Given the description of an element on the screen output the (x, y) to click on. 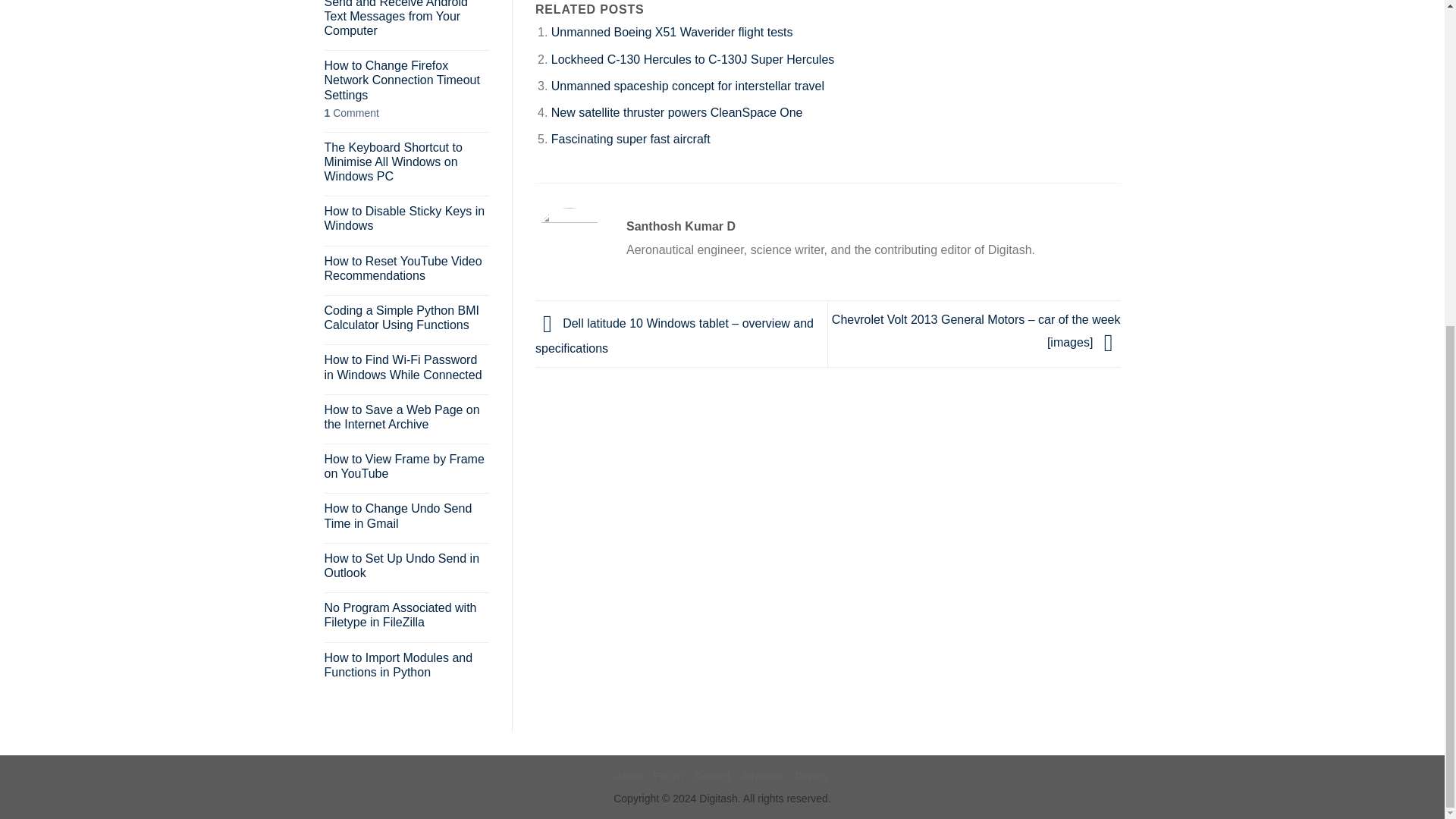
Coding a Simple Python BMI Calculator Using Functions (406, 317)
How to View Frame by Frame on YouTube (406, 466)
How to Disable Sticky Keys in Windows (406, 217)
How to Find Wi-Fi Password in Windows While Connected (406, 366)
How to Save a Web Page on the Internet Archive (406, 416)
Coding a Simple Python BMI Calculator Using Functions (406, 317)
How to Change Firefox Network Connection Timeout Settings (406, 80)
1 Comment (406, 113)
How to Change Firefox Network Connection Timeout Settings (406, 80)
How to View Frame by Frame on YouTube (406, 466)
